Given the description of an element on the screen output the (x, y) to click on. 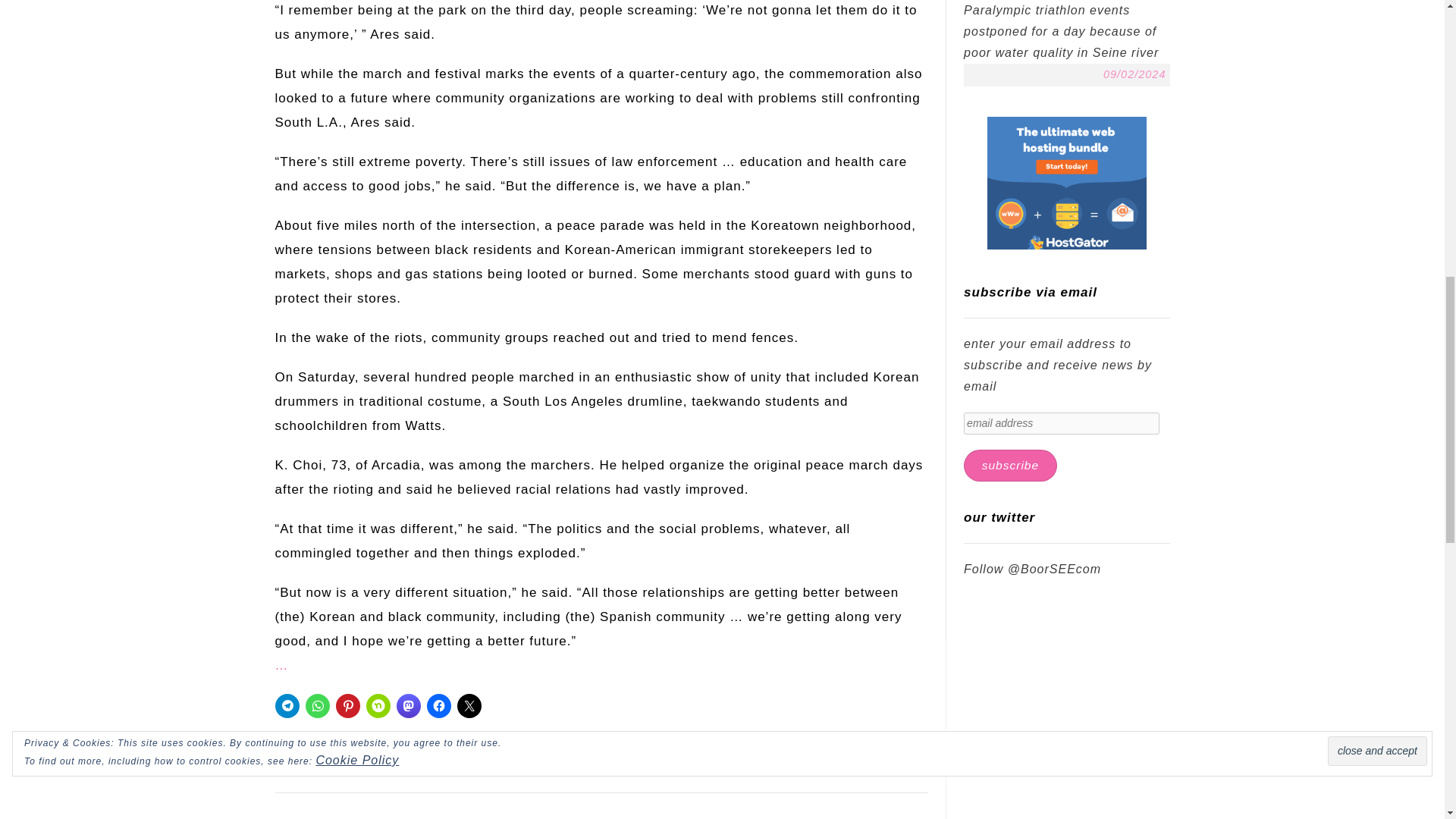
Click to share on Nextdoor (377, 705)
Click to share on Facebook (437, 705)
Click to share on Telegram (286, 705)
Click to share on X (468, 705)
Click to share on Pinterest (346, 705)
Click to share on WhatsApp (316, 705)
United States (369, 753)
Click to share on Mastodon (408, 705)
